Given the description of an element on the screen output the (x, y) to click on. 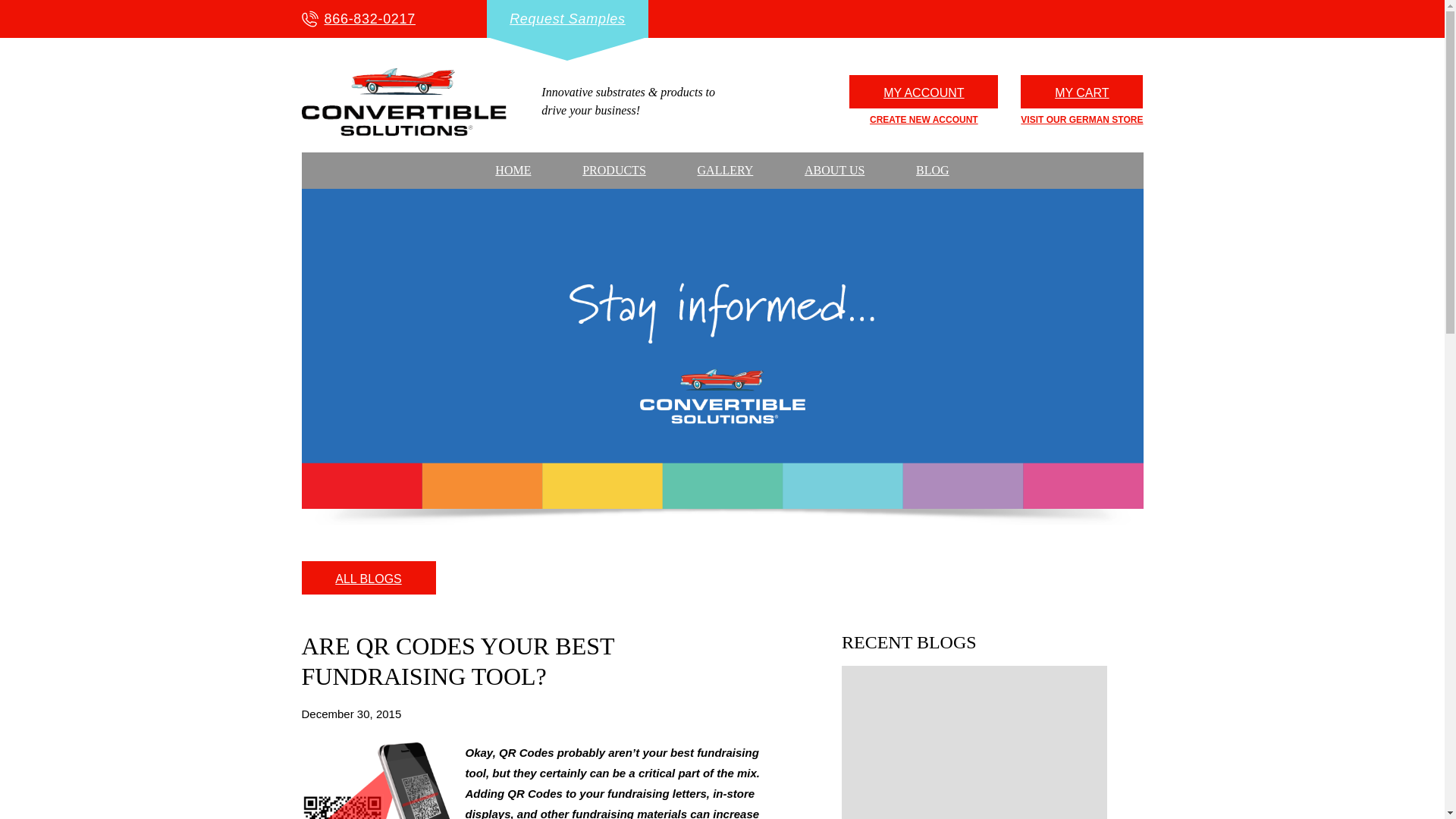
MY CART (1081, 91)
Home (512, 170)
PRODUCTS (613, 170)
ALL BLOGS (368, 578)
HOME (512, 170)
Gallery (724, 170)
MY ACCOUNT (922, 91)
CREATE NEW ACCOUNT (923, 119)
Request Samples (566, 18)
Products (613, 170)
VISIT OUR GERMAN STORE (1081, 119)
About Us (834, 170)
BLOG (932, 170)
GALLERY (724, 170)
866-832-0217 (358, 18)
